Given the description of an element on the screen output the (x, y) to click on. 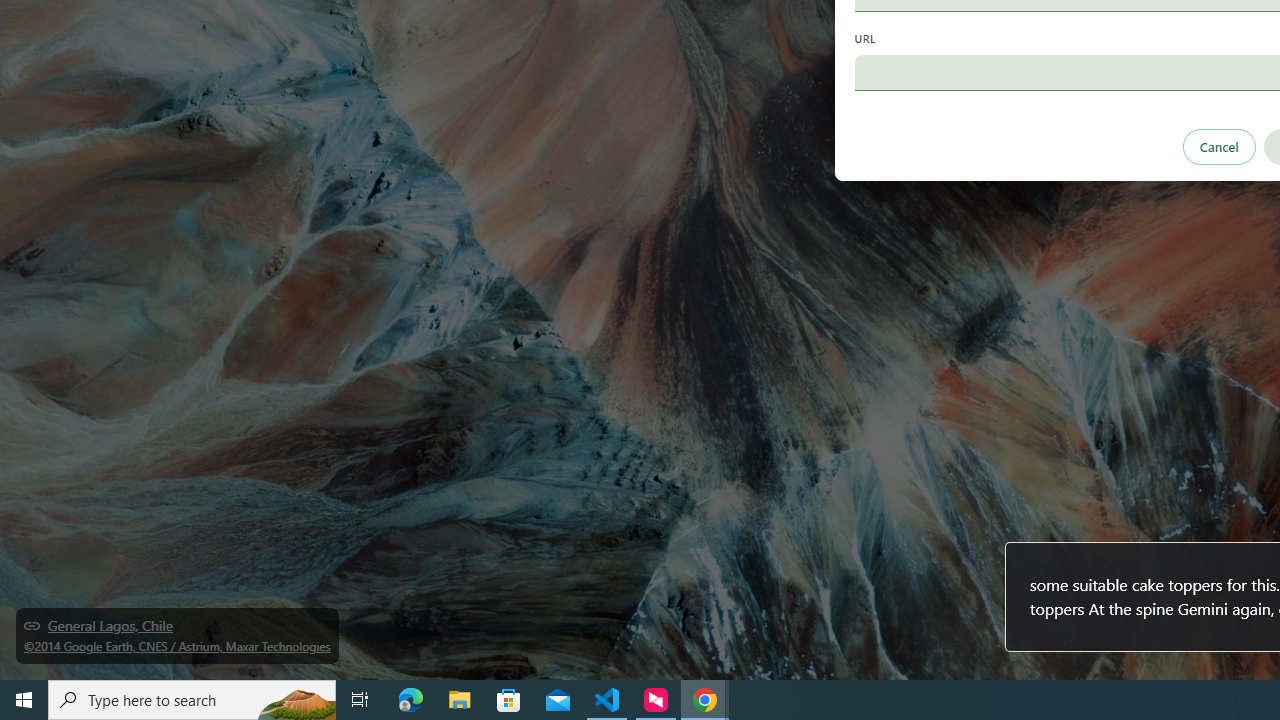
Cancel (1218, 146)
